Given the description of an element on the screen output the (x, y) to click on. 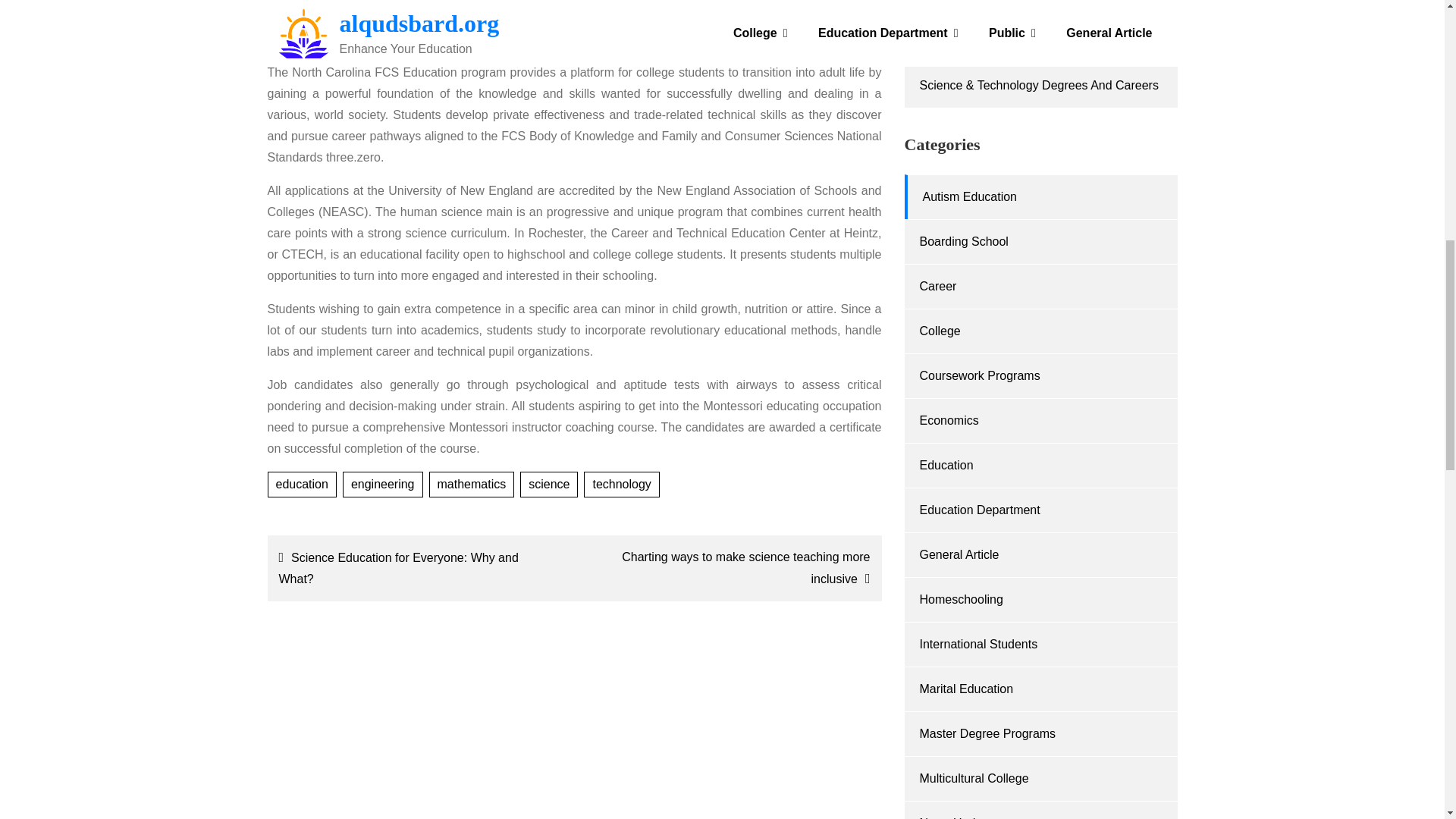
education (301, 484)
Science Education for Everyone: Why and What? (417, 568)
mathematics (472, 484)
technology (621, 484)
science (548, 484)
Charting ways to make science teaching more inclusive (730, 568)
engineering (382, 484)
